Given the description of an element on the screen output the (x, y) to click on. 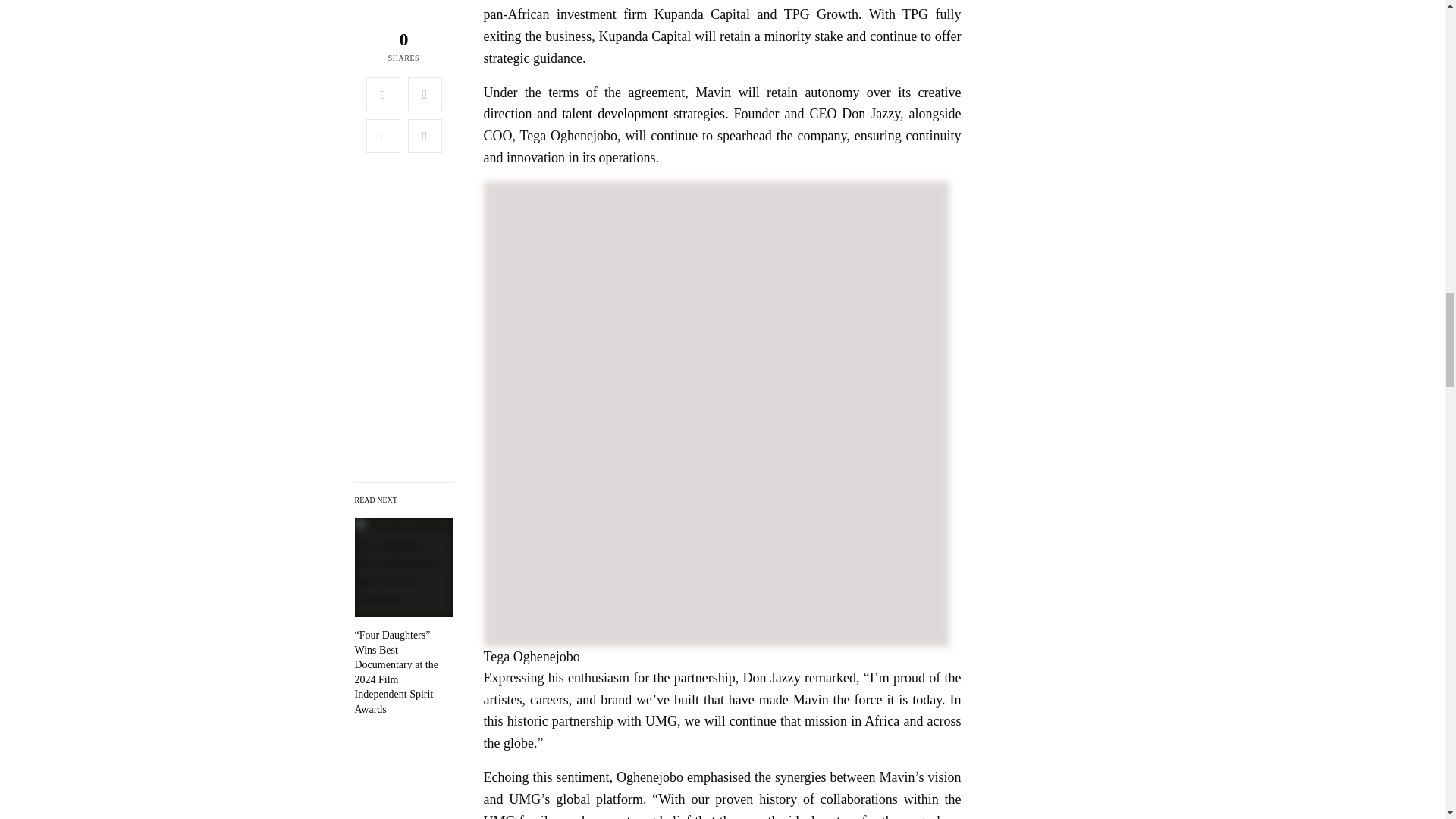
Kupanda Capital (701, 14)
remarked (830, 677)
TPG Growth (821, 14)
